Given the description of an element on the screen output the (x, y) to click on. 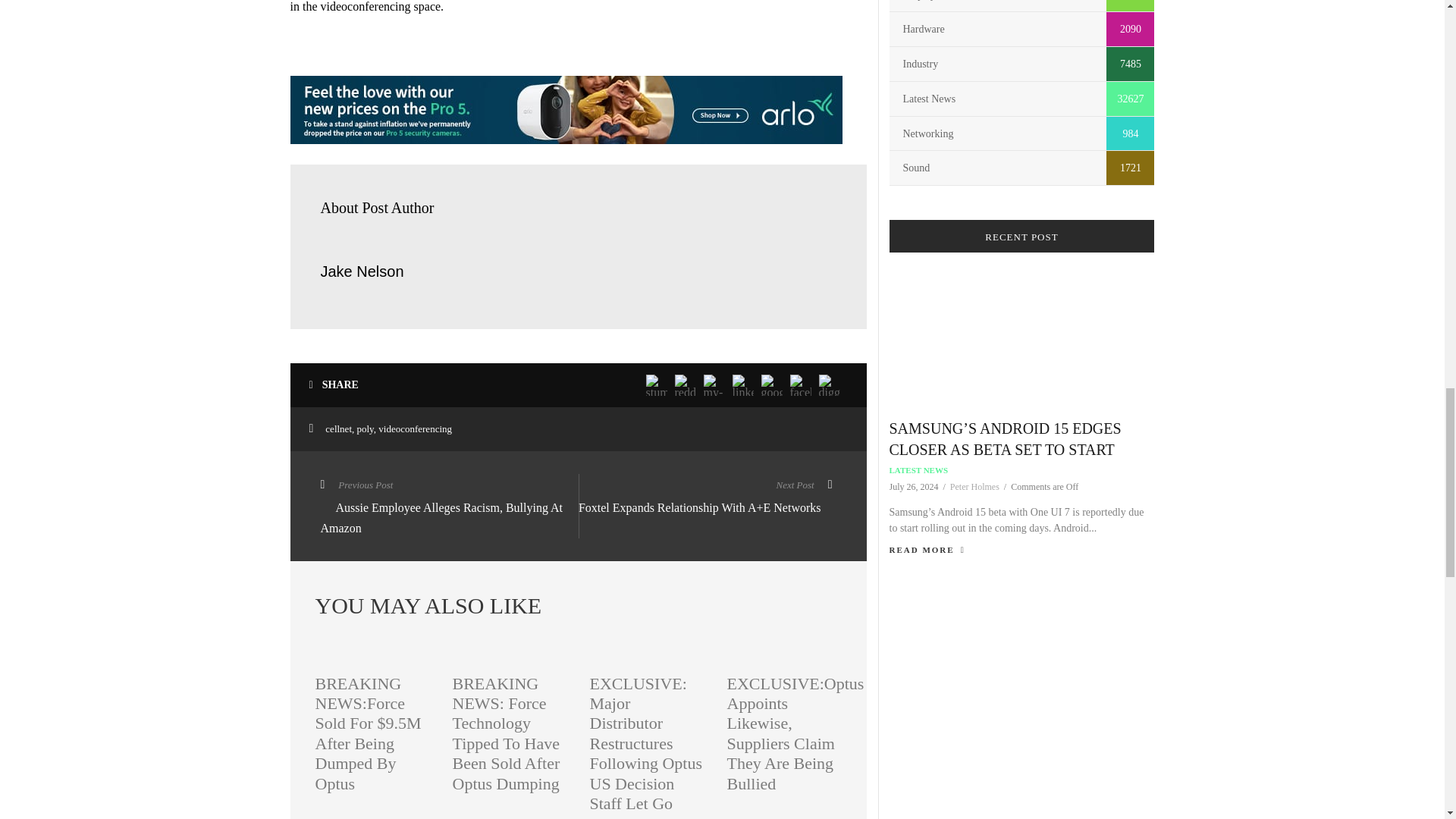
Posts by Jake Nelson (361, 271)
Posts by Peter Holmes (974, 486)
